Given the description of an element on the screen output the (x, y) to click on. 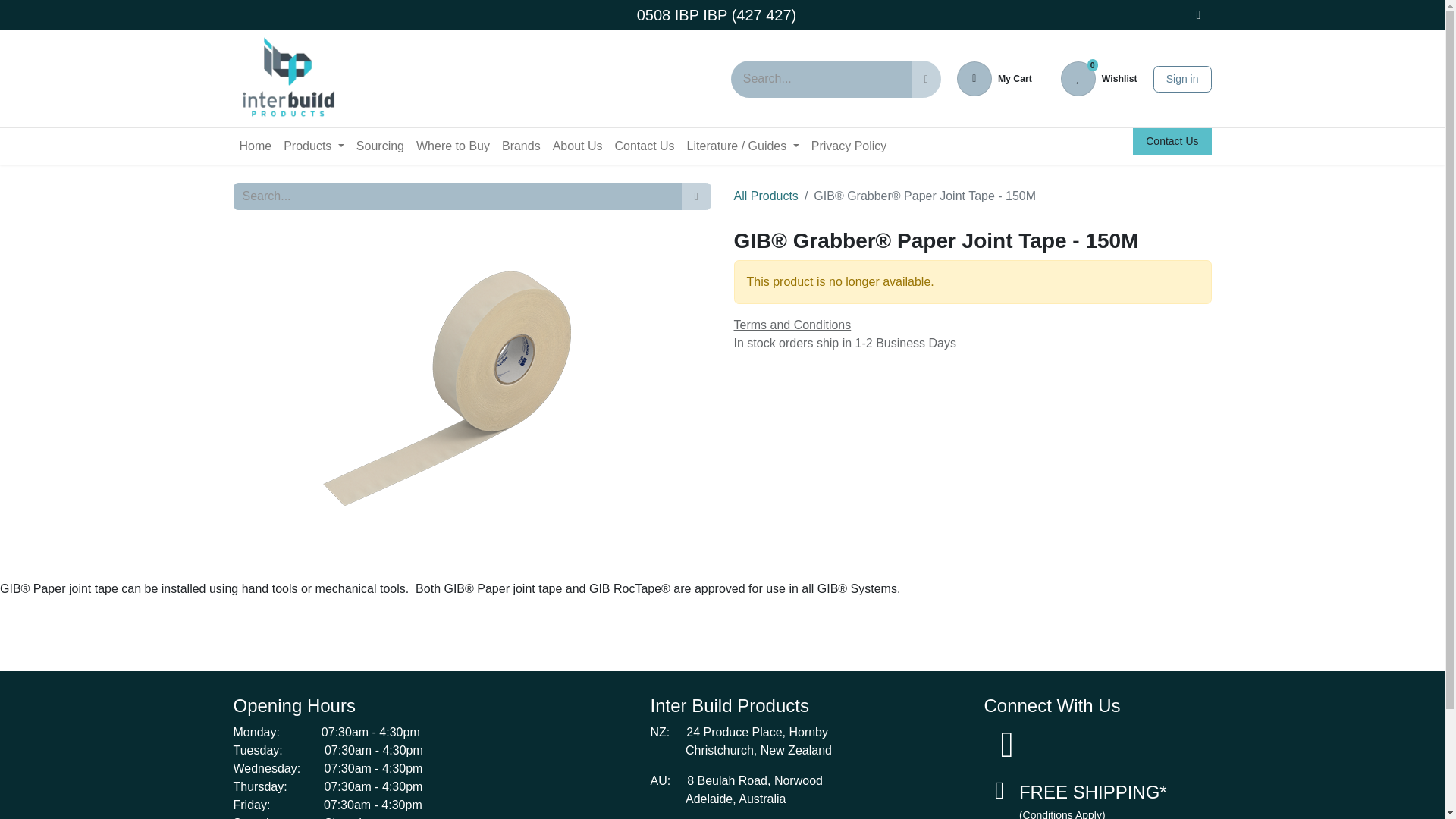
Inter Build Products (287, 78)
My Cart (994, 78)
Home (255, 146)
Sign in (1182, 78)
Products (1099, 78)
